Given the description of an element on the screen output the (x, y) to click on. 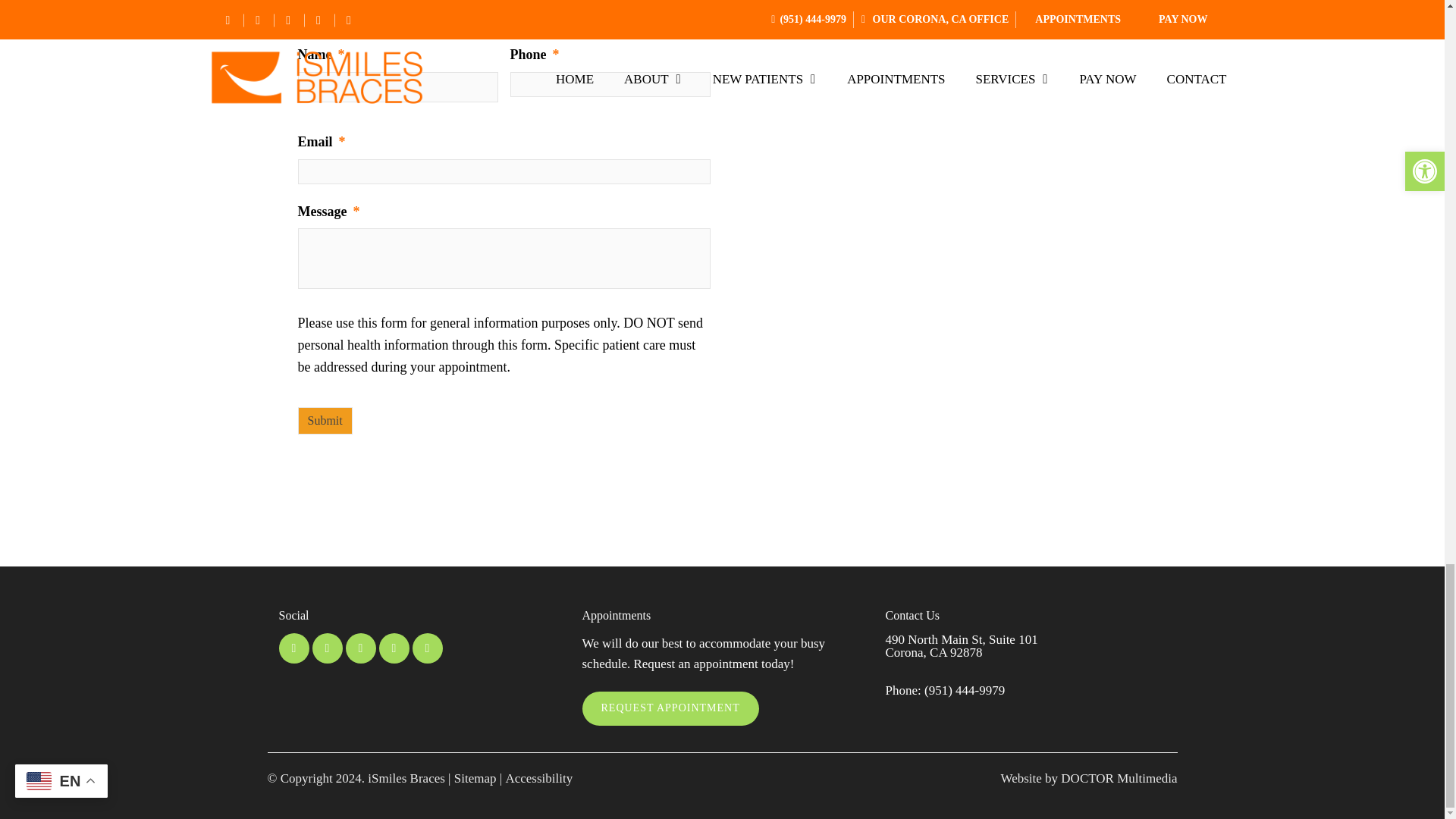
Submit (324, 420)
